Given the description of an element on the screen output the (x, y) to click on. 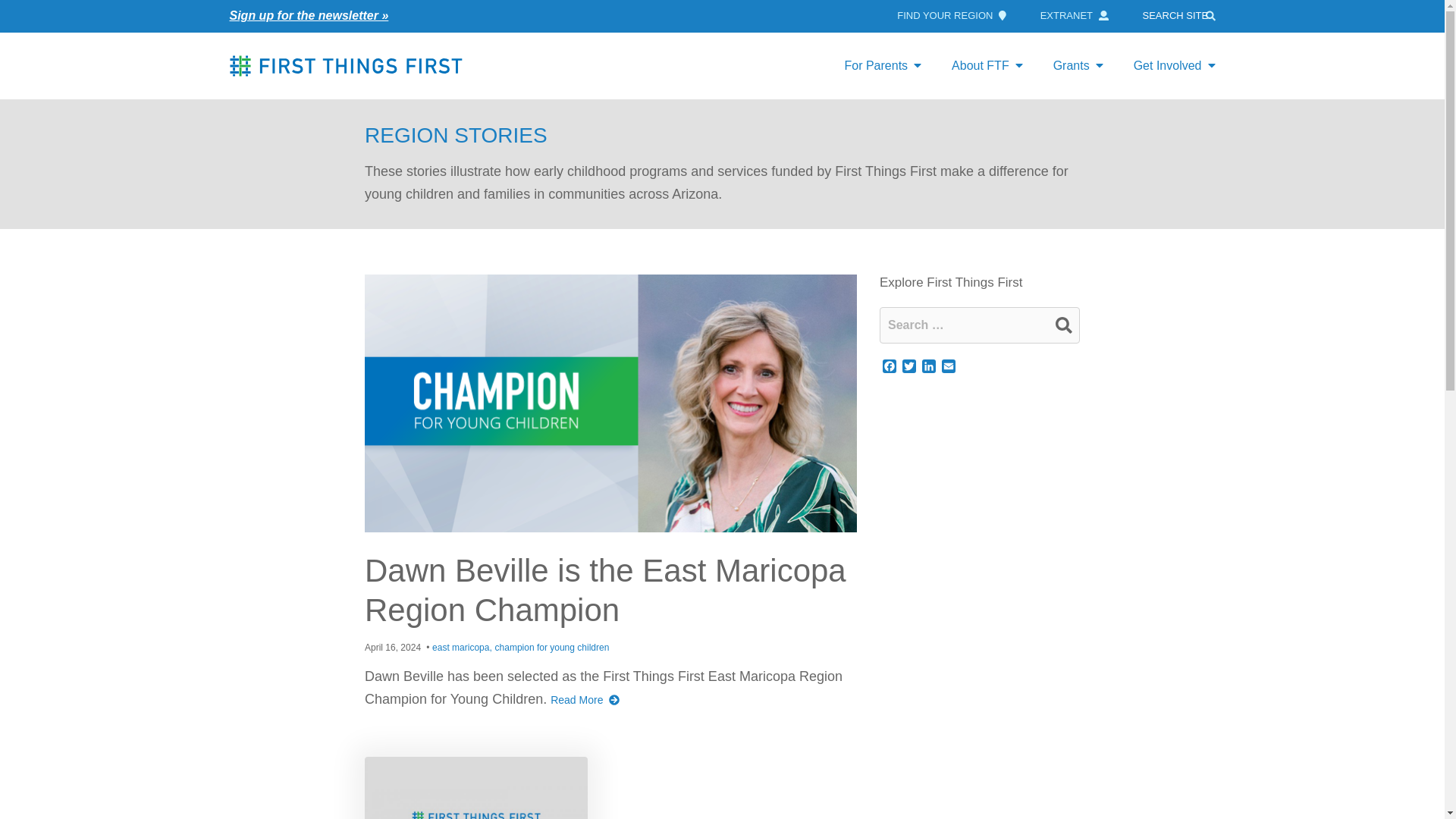
Facebook (889, 367)
Grants (1078, 64)
For Parents (882, 64)
Get Involved (1174, 64)
EXTRANET (1074, 15)
Email (948, 367)
Search (1063, 324)
About FTF (987, 64)
Twitter (908, 367)
LinkedIn (928, 367)
SEARCH SITE (1182, 15)
Search (1063, 324)
FIND YOUR REGION (951, 15)
